Given the description of an element on the screen output the (x, y) to click on. 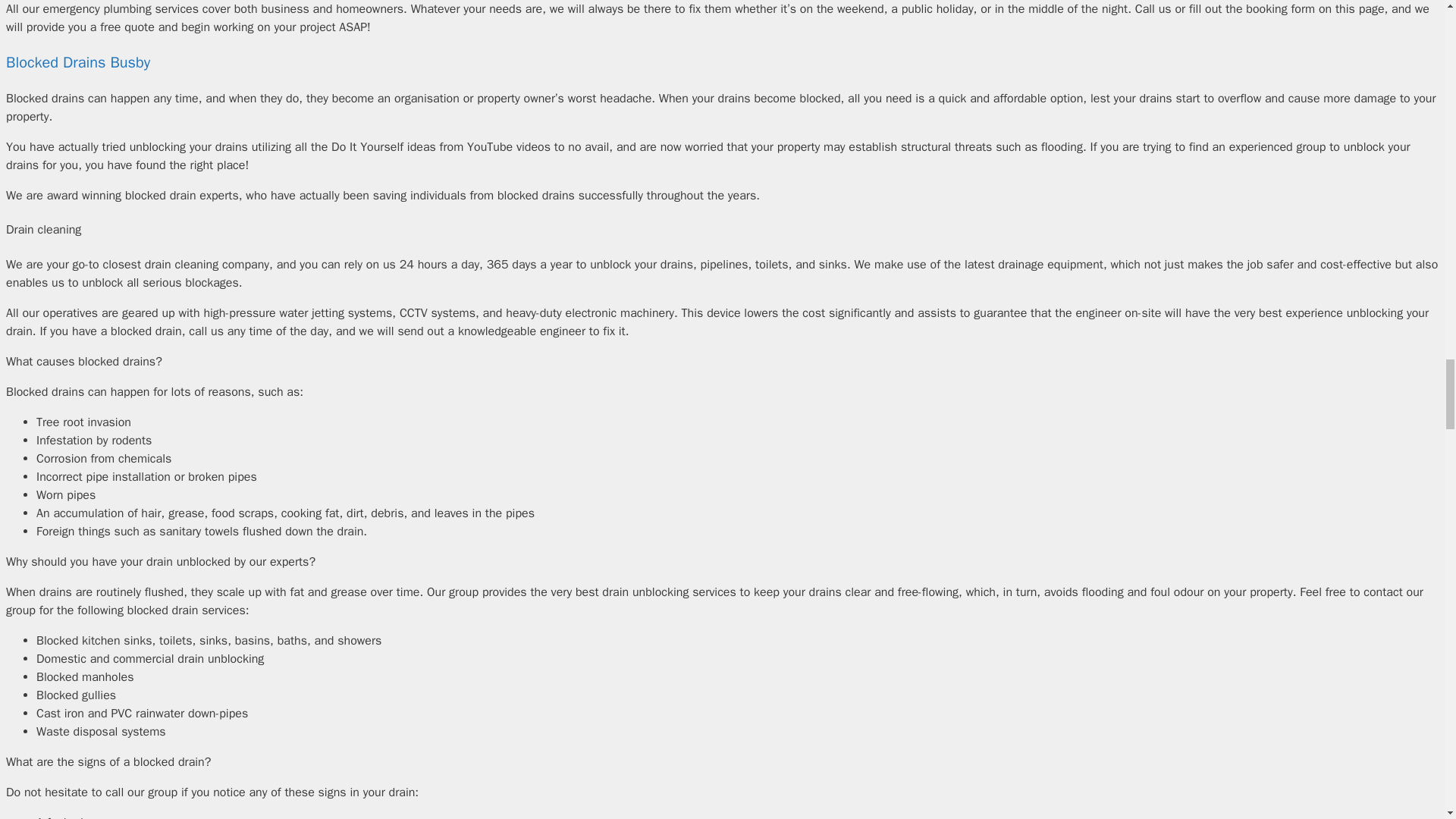
Blocked Drains Busby (77, 62)
